Given the description of an element on the screen output the (x, y) to click on. 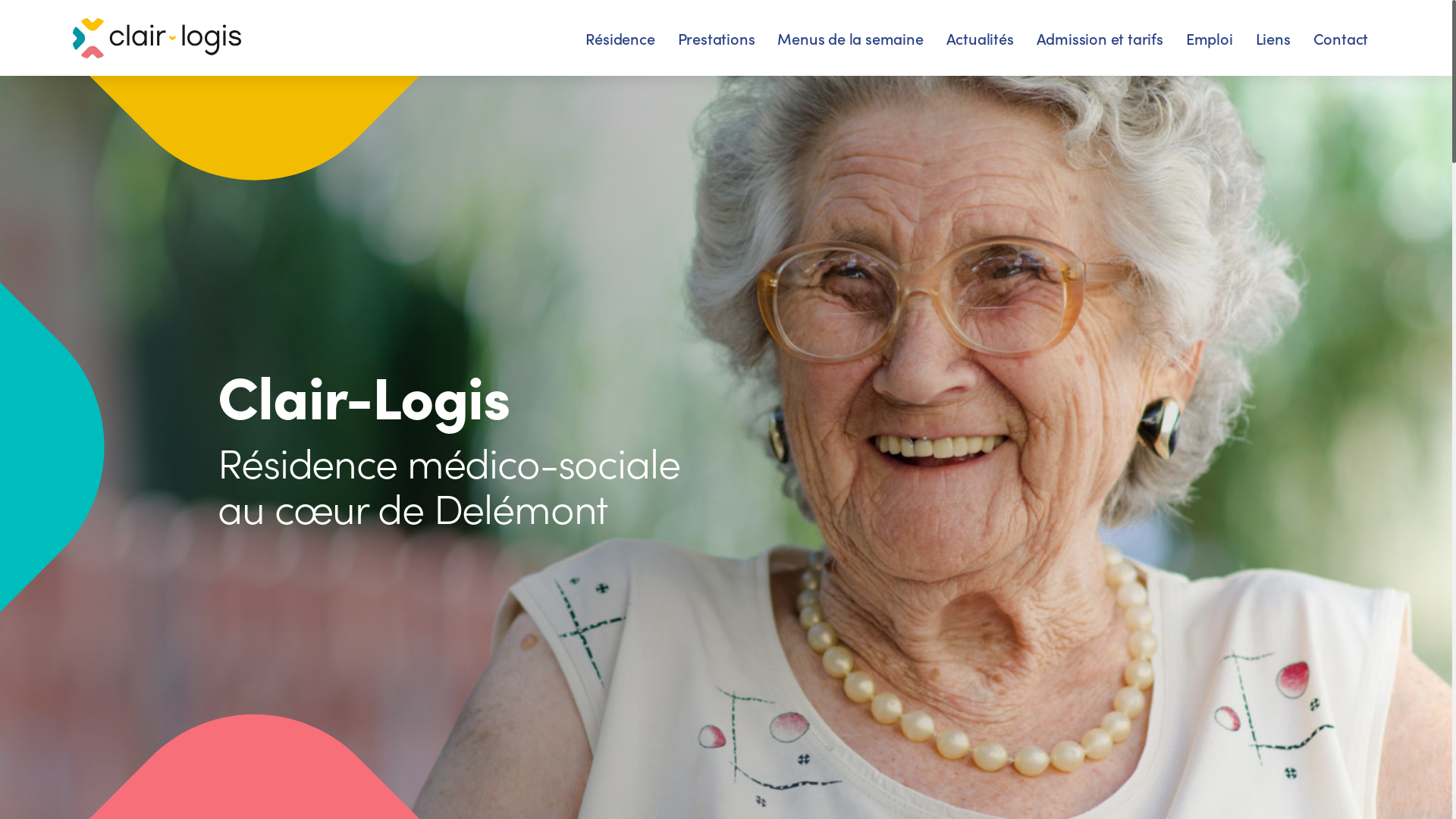
Liens Element type: text (1273, 37)
Menus de la semaine Element type: text (849, 37)
Emploi Element type: text (1209, 37)
Contact Element type: text (1341, 37)
Prestations Element type: text (716, 37)
Admission et tarifs Element type: text (1099, 37)
